Given the description of an element on the screen output the (x, y) to click on. 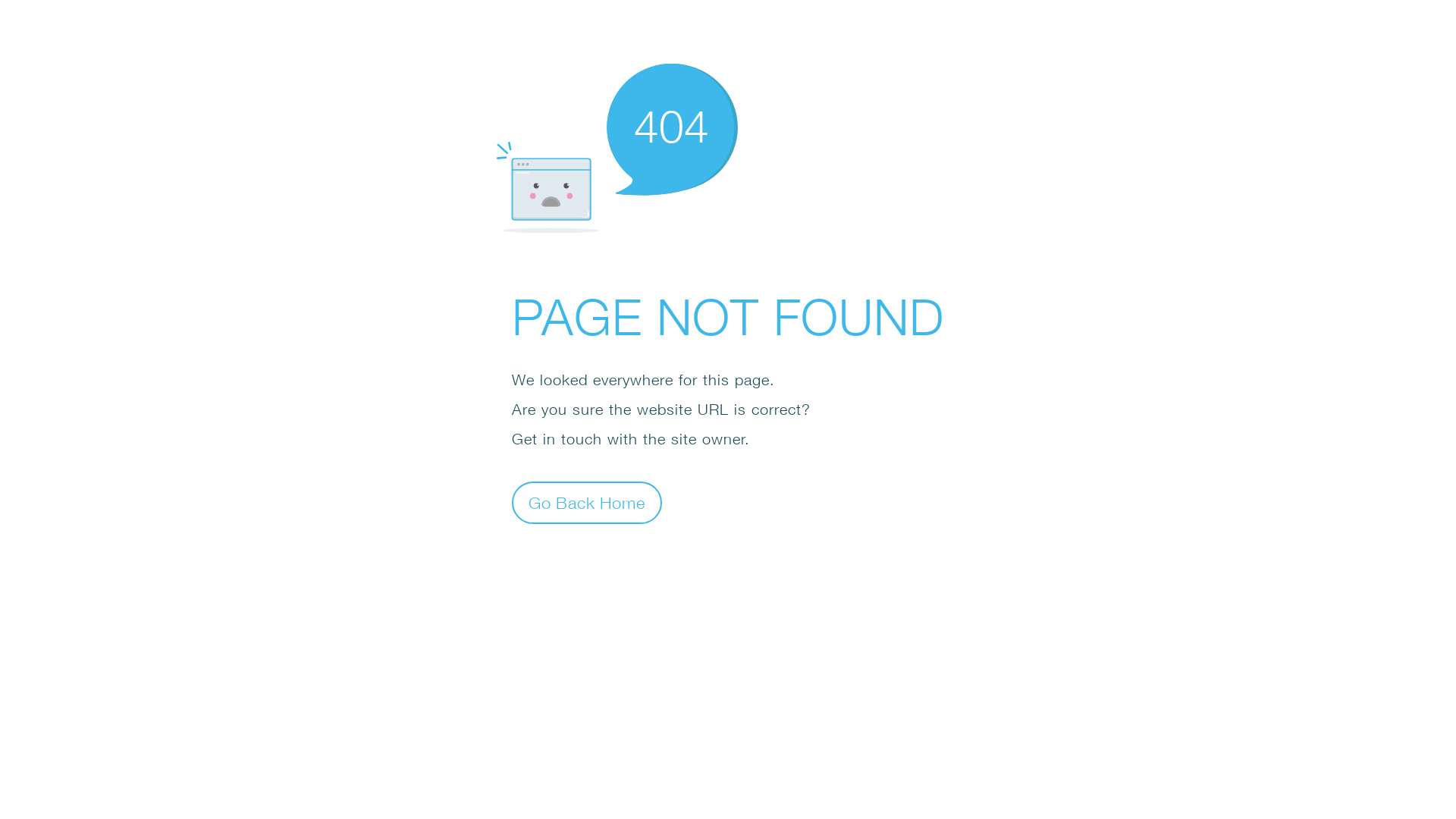
Go Back Home Element type: text (586, 502)
